Given the description of an element on the screen output the (x, y) to click on. 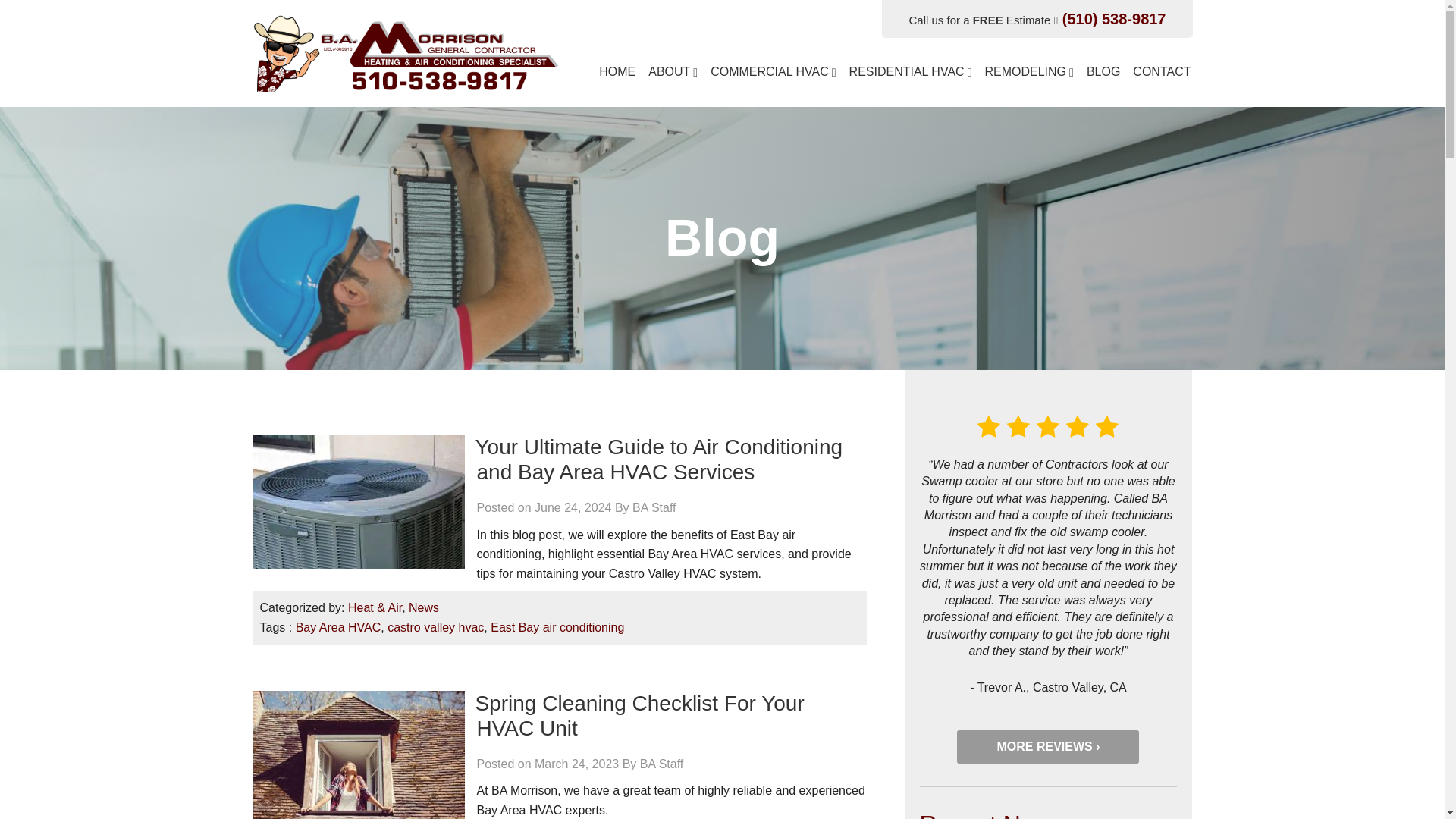
COMMERCIAL HVAC (775, 80)
East Bay air conditioning (557, 626)
RESIDENTIAL HVAC (913, 80)
News (424, 607)
ABOUT (675, 80)
BA Morrison (404, 51)
REMODELING (1030, 80)
CONTACT (1160, 80)
BA Staff (662, 763)
Spring Cleaning Checklist For Your HVAC Unit (638, 716)
HOME (620, 80)
BLOG (1106, 80)
castro valley hvac (435, 626)
BA Staff (654, 507)
